Given the description of an element on the screen output the (x, y) to click on. 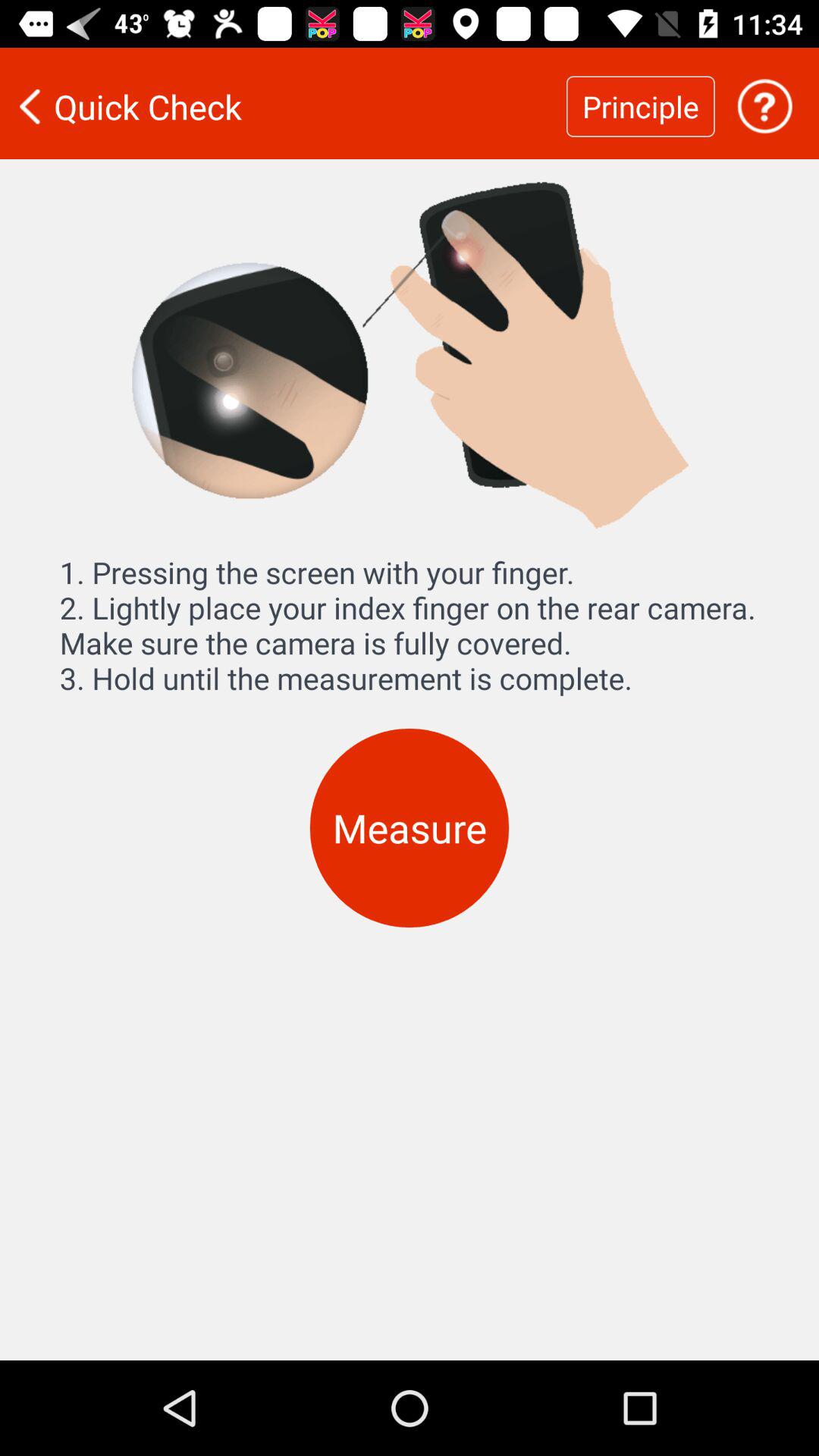
choose the item next to the quick check item (640, 106)
